Given the description of an element on the screen output the (x, y) to click on. 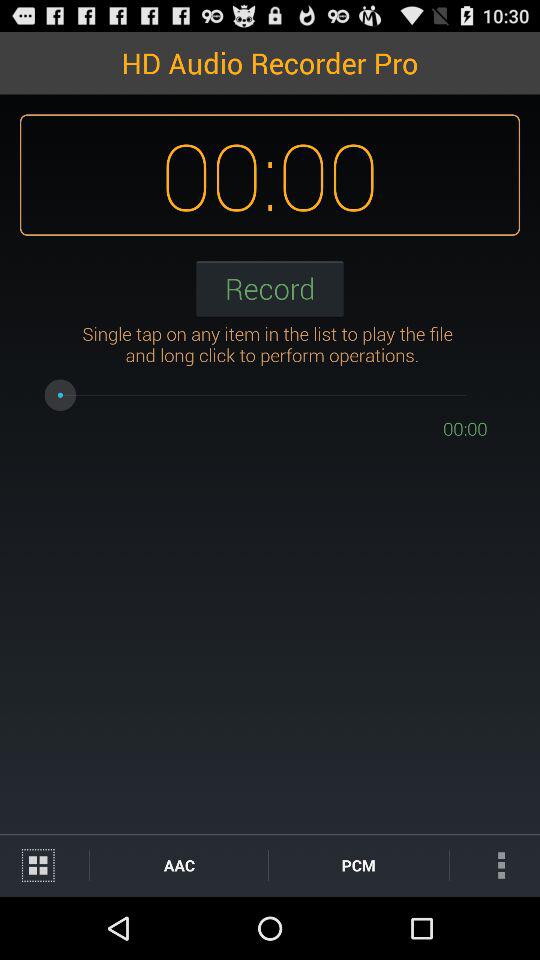
turn on icon to the left of pcm item (178, 864)
